Given the description of an element on the screen output the (x, y) to click on. 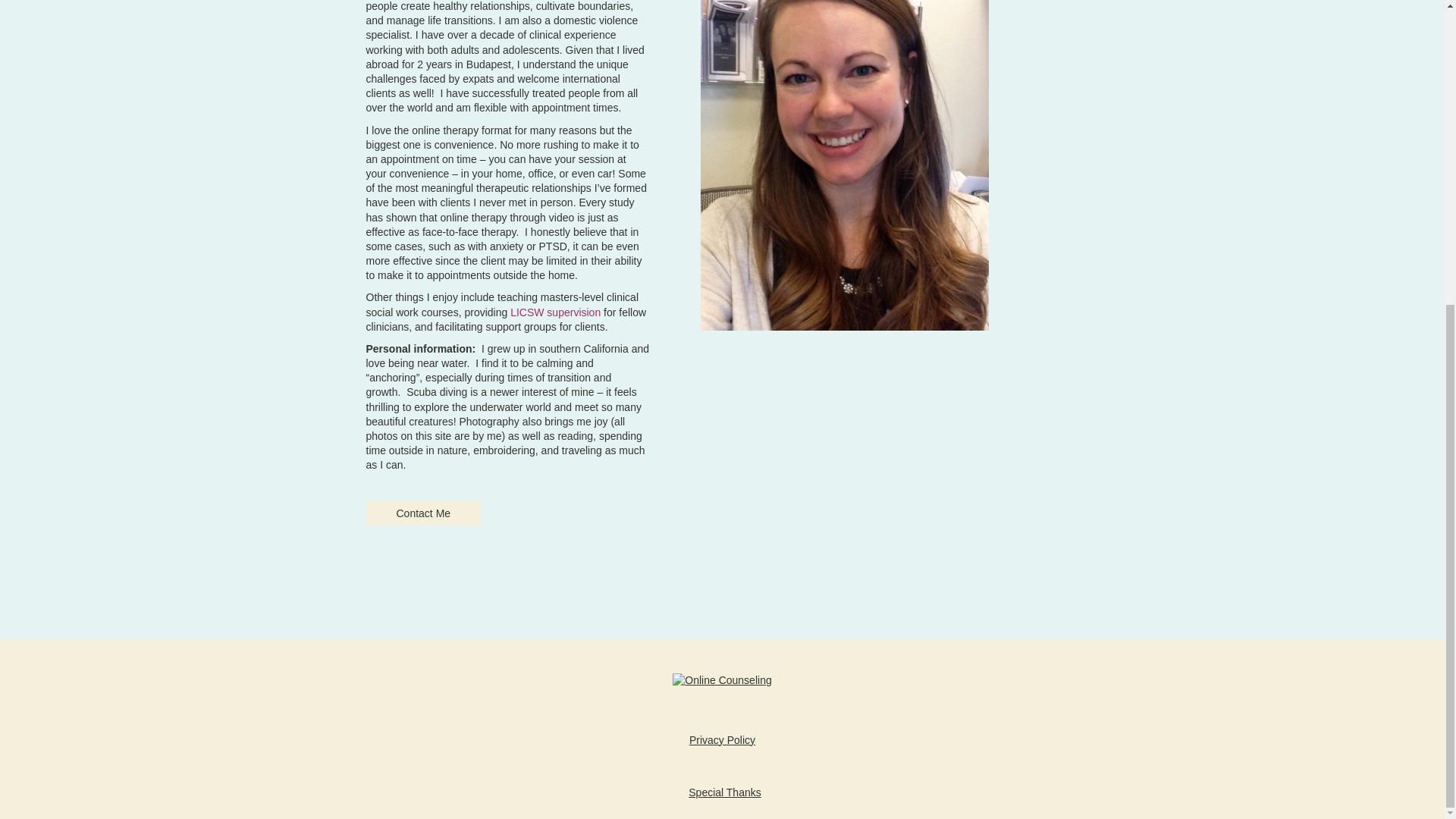
LICSW supervision (555, 312)
Contact Me (422, 513)
Privacy Policy (721, 739)
Special Thanks (724, 792)
